Given the description of an element on the screen output the (x, y) to click on. 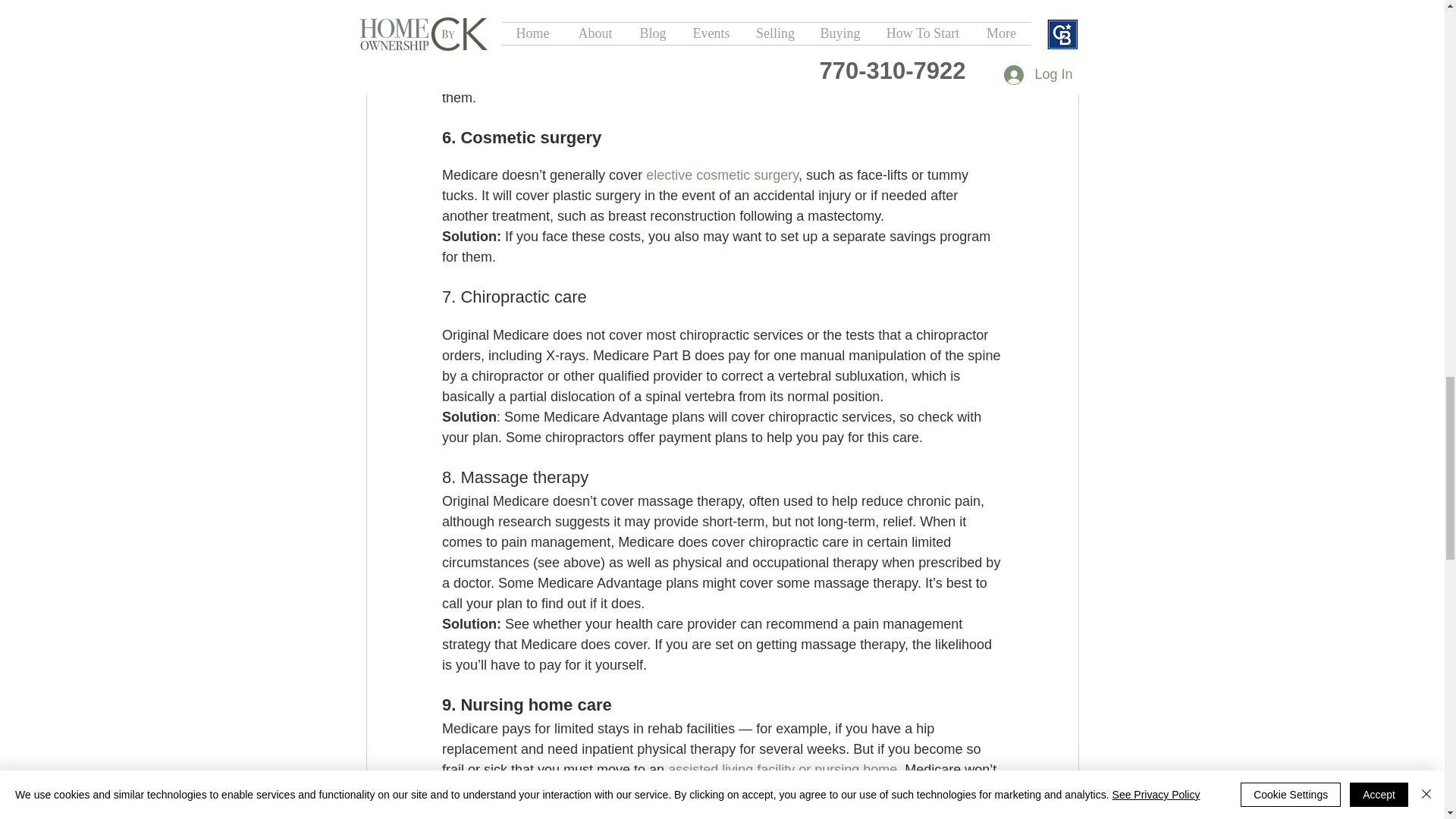
elective cosmetic surgery (721, 174)
medical care for feet (554, 15)
assisted living facility or nursing home (782, 769)
